Given the description of an element on the screen output the (x, y) to click on. 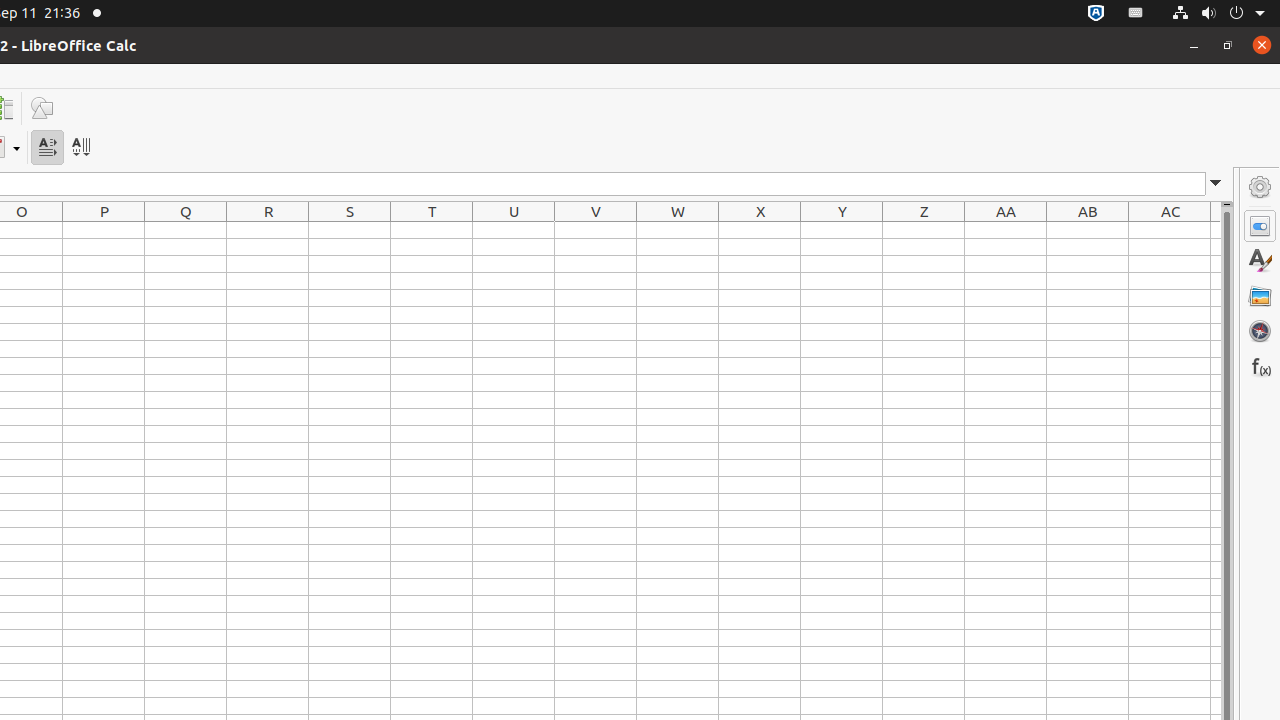
Functions Element type: radio-button (1260, 366)
P1 Element type: table-cell (104, 230)
